Given the description of an element on the screen output the (x, y) to click on. 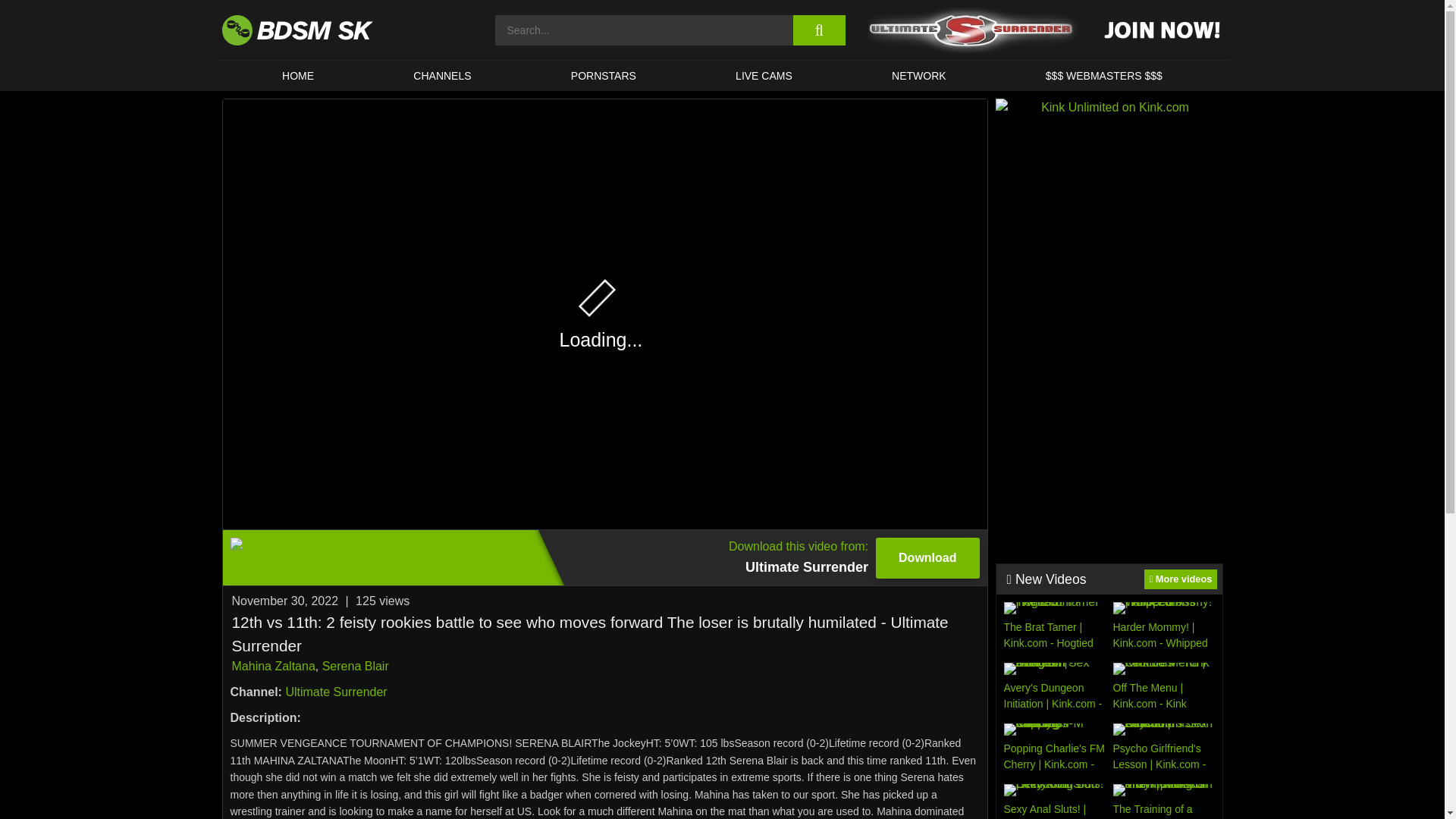
NETWORK (918, 75)
Mahina Zaltana (273, 666)
LIVE CAMS (763, 75)
Ultimate Surrender (336, 691)
HOME (604, 557)
Watch Kink Unlimited on Kink.com (296, 75)
PORNSTARS (1108, 206)
Serena Blair (603, 75)
CHANNELS (354, 666)
